Given the description of an element on the screen output the (x, y) to click on. 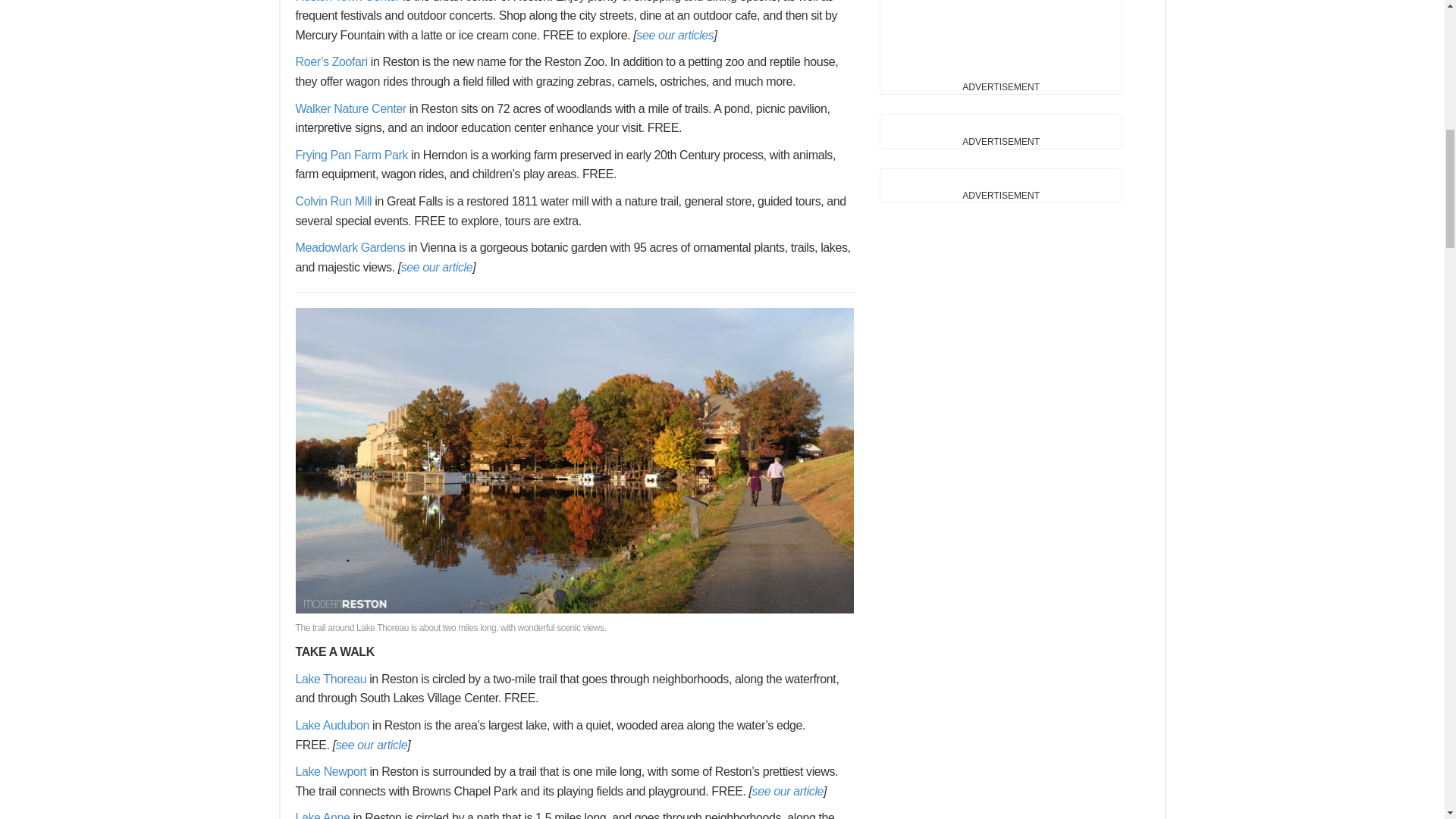
Advertisement (1000, 38)
